Given the description of an element on the screen output the (x, y) to click on. 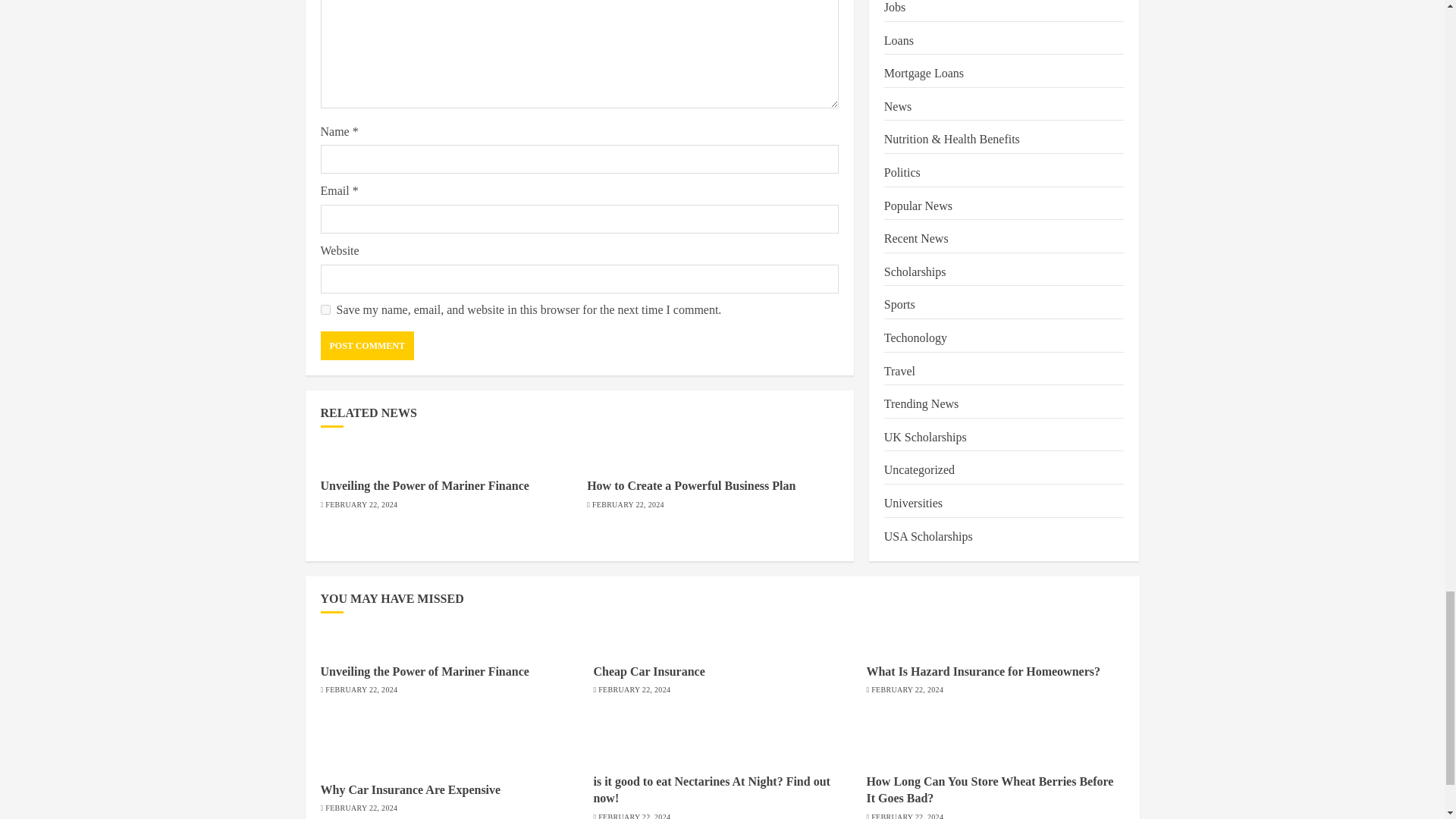
FEBRUARY 22, 2024 (627, 504)
Post Comment (366, 345)
yes (325, 309)
Post Comment (366, 345)
FEBRUARY 22, 2024 (360, 504)
Unveiling the Power of Mariner Finance (424, 486)
How to Create a Powerful Business Plan (690, 486)
